Given the description of an element on the screen output the (x, y) to click on. 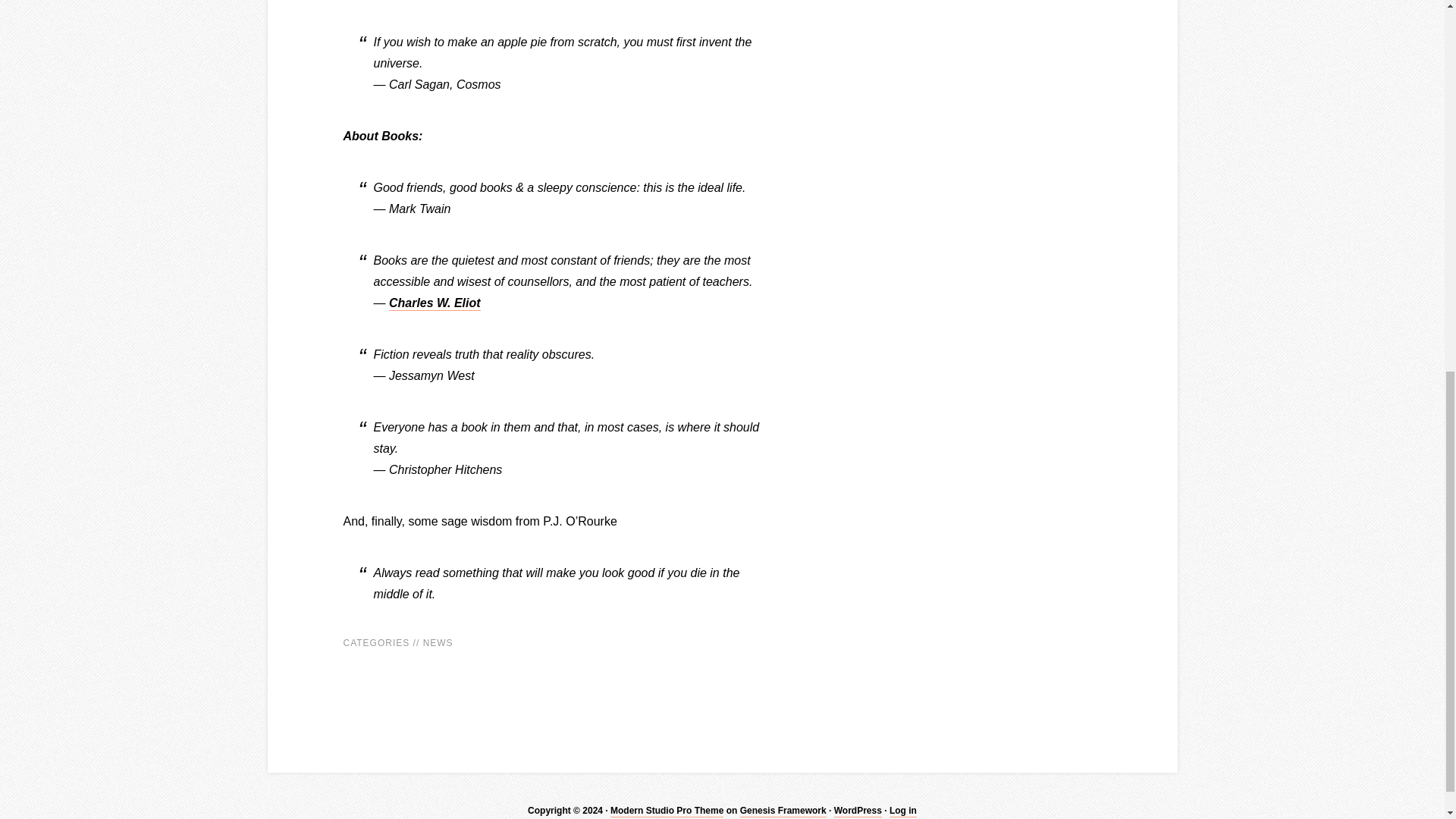
Log in (903, 811)
Modern Studio Pro Theme (666, 811)
WordPress (858, 811)
Charles W. Eliot (434, 303)
NEWS (437, 643)
Genesis Framework (783, 811)
